Given the description of an element on the screen output the (x, y) to click on. 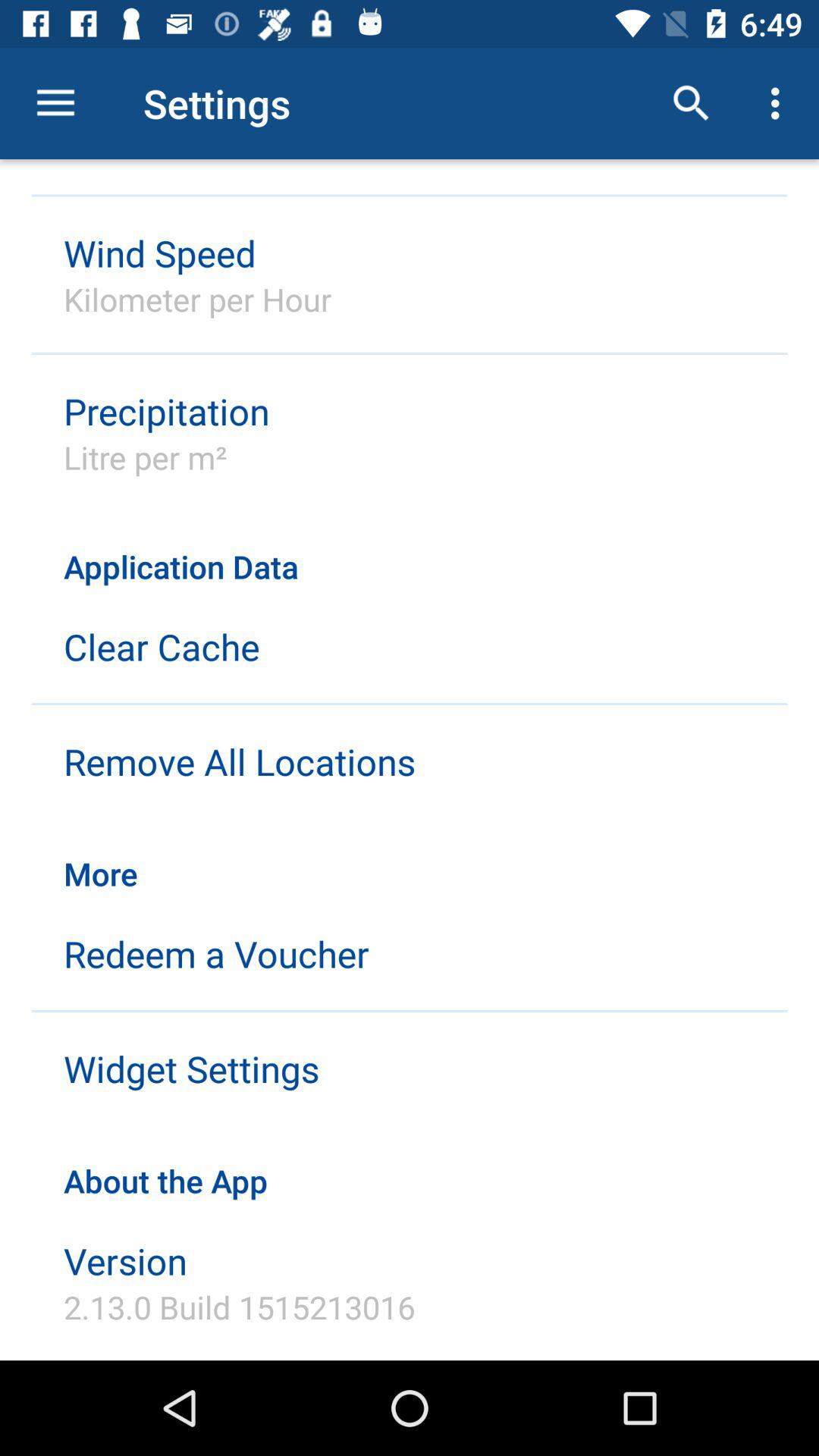
select the item below the application data (161, 646)
